Given the description of an element on the screen output the (x, y) to click on. 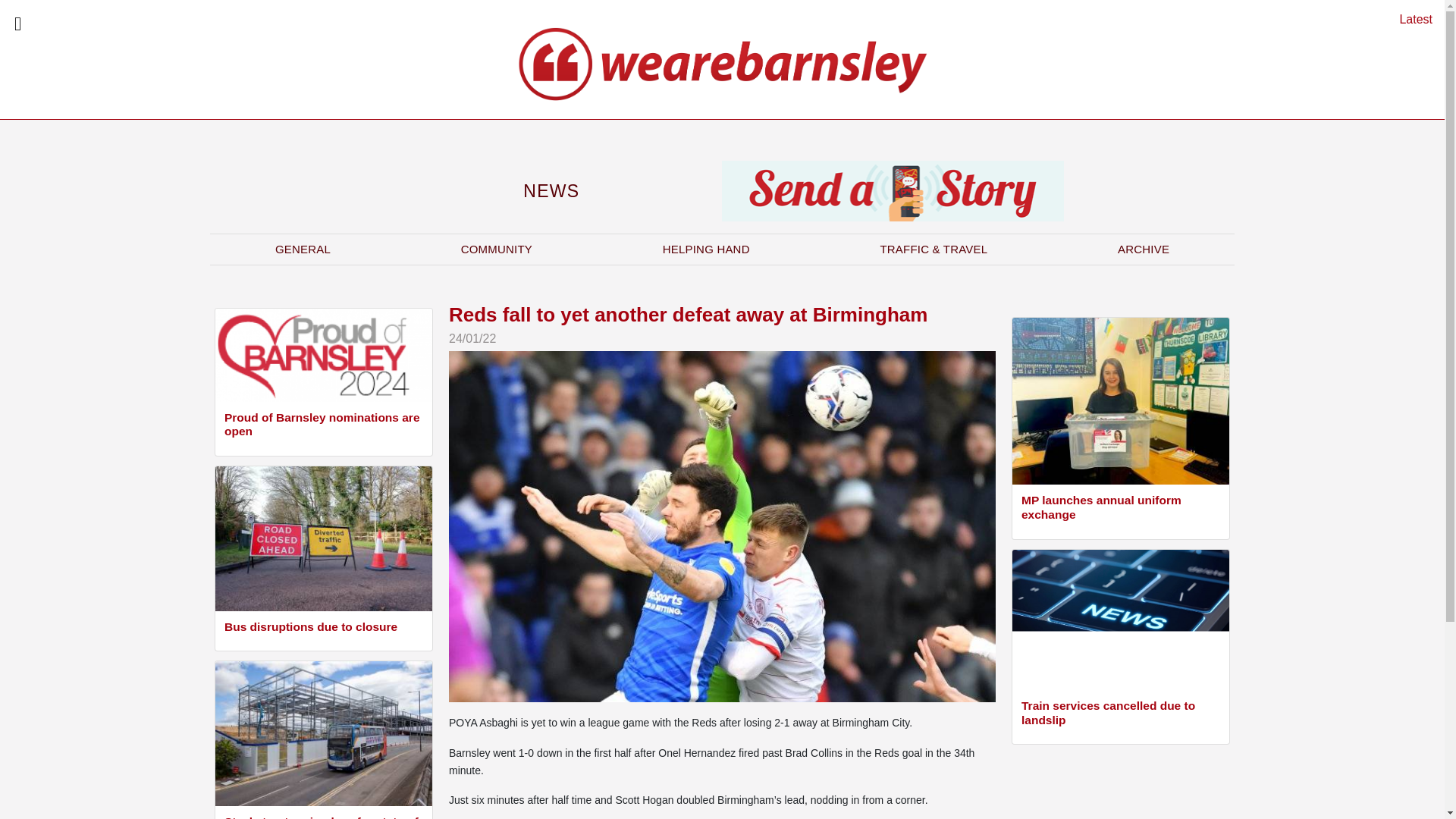
GENERAL (302, 249)
Steel structure in place for state-of-the-art youth hub (323, 816)
COMMUNITY (496, 249)
MP launches annual uniform exchange (1121, 508)
ARCHIVE (1143, 249)
Proud of Barnsley nominations are open (323, 426)
HELPING HAND (705, 249)
Bus disruptions due to closure (323, 628)
Latest (1415, 19)
